Given the description of an element on the screen output the (x, y) to click on. 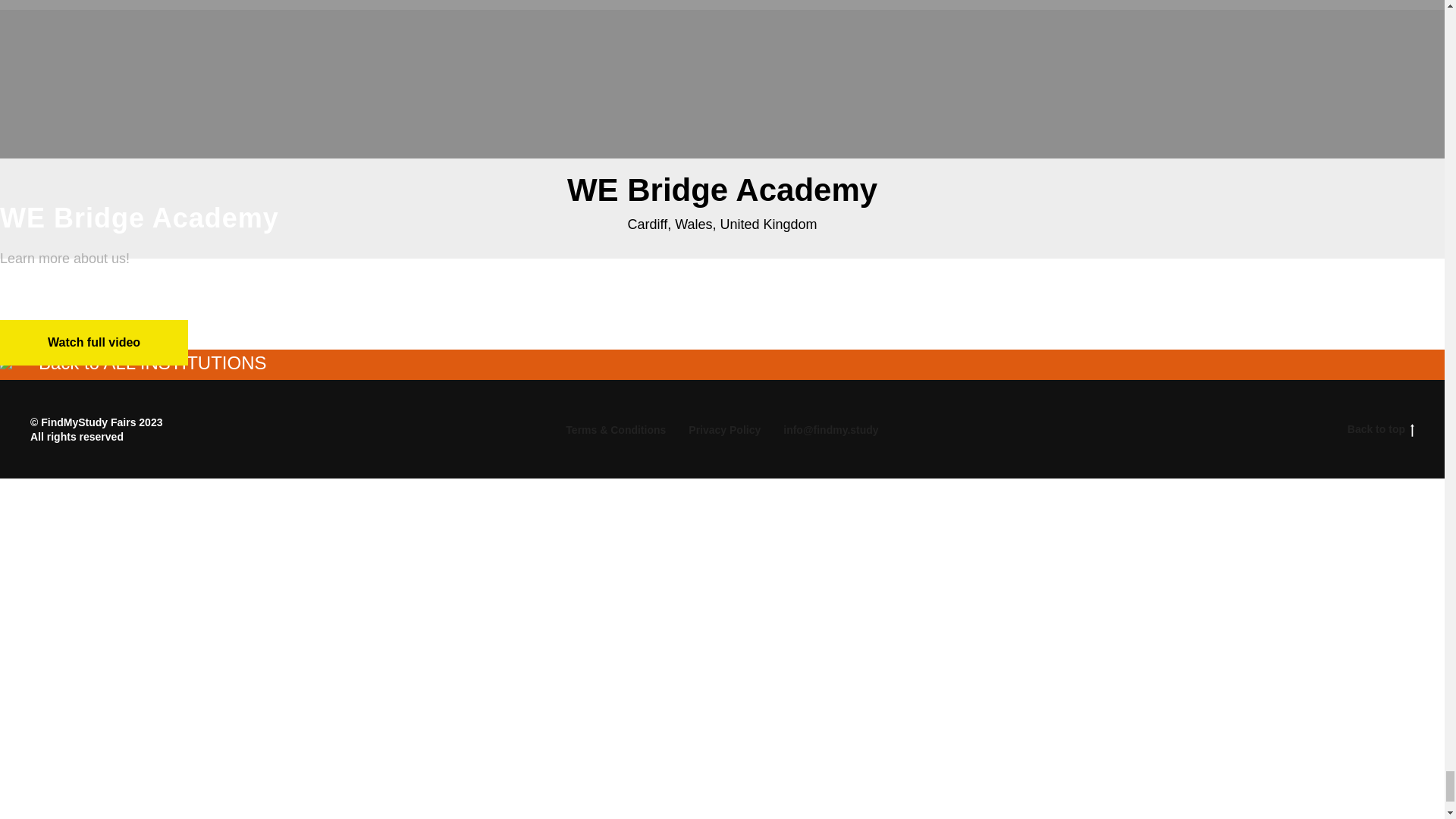
Back to top (1380, 429)
Back to top (1380, 429)
Watch full video (93, 342)
Privacy Policy (724, 429)
Back to ALL INSTITUTIONS (133, 364)
Back to top (1318, 429)
